Given the description of an element on the screen output the (x, y) to click on. 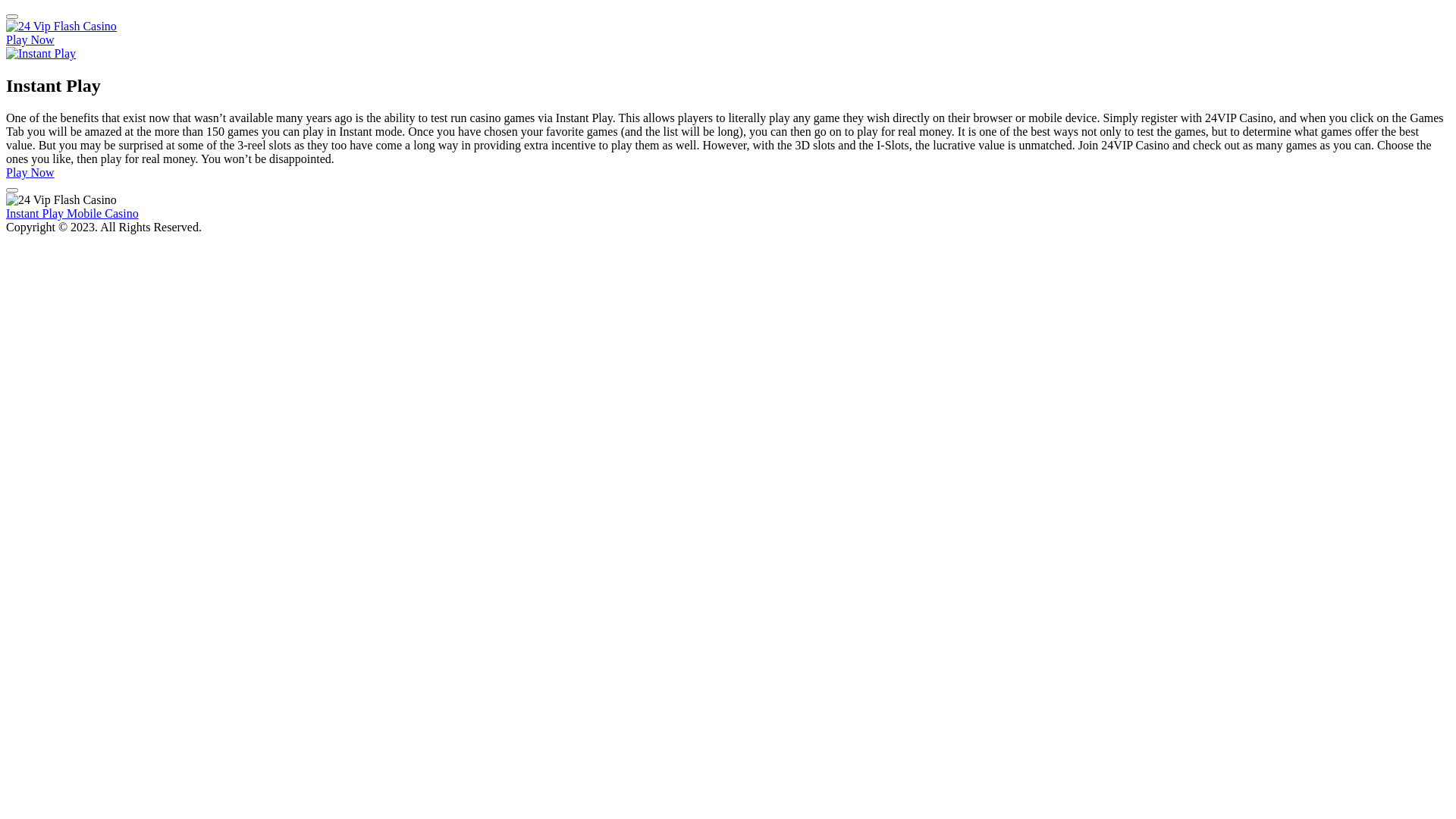
Instant Play Element type: text (36, 213)
Go to top Element type: hover (12, 190)
Play Now Element type: text (30, 172)
Mobile Casino Element type: text (102, 213)
Play Now Element type: text (30, 39)
